Given the description of an element on the screen output the (x, y) to click on. 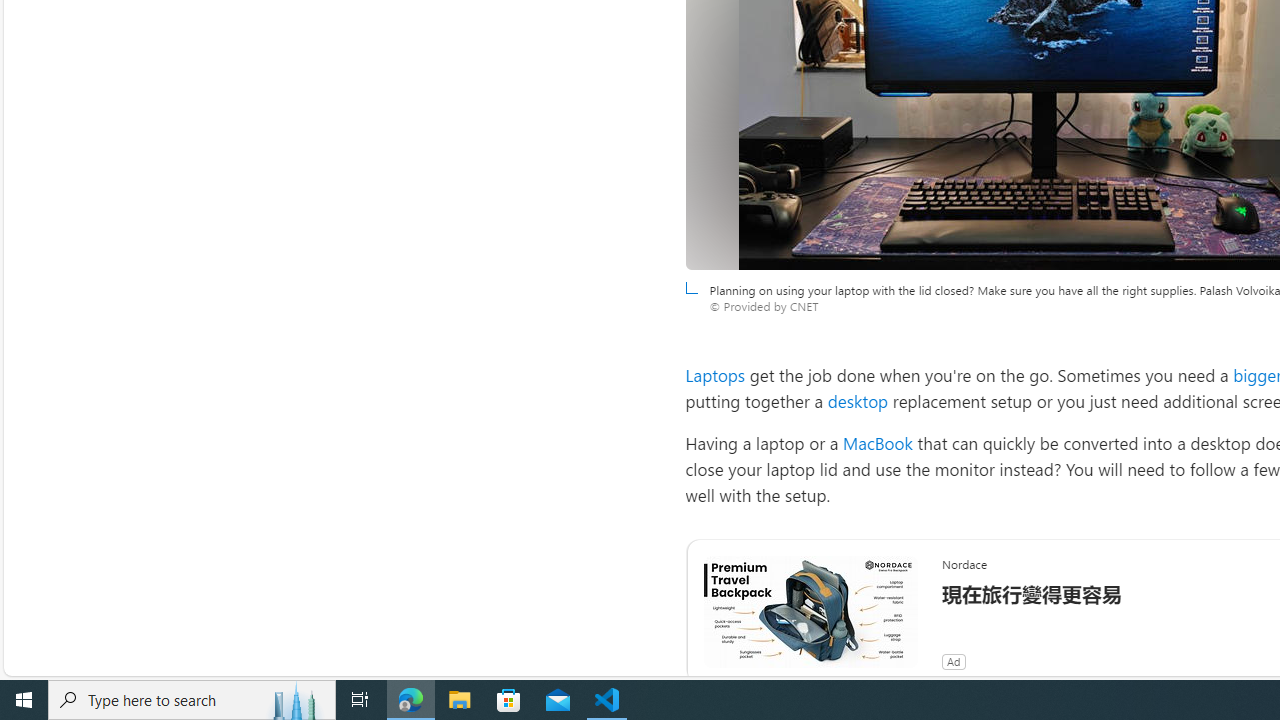
Laptops (715, 374)
MacBook (877, 443)
desktop (857, 400)
